Given the description of an element on the screen output the (x, y) to click on. 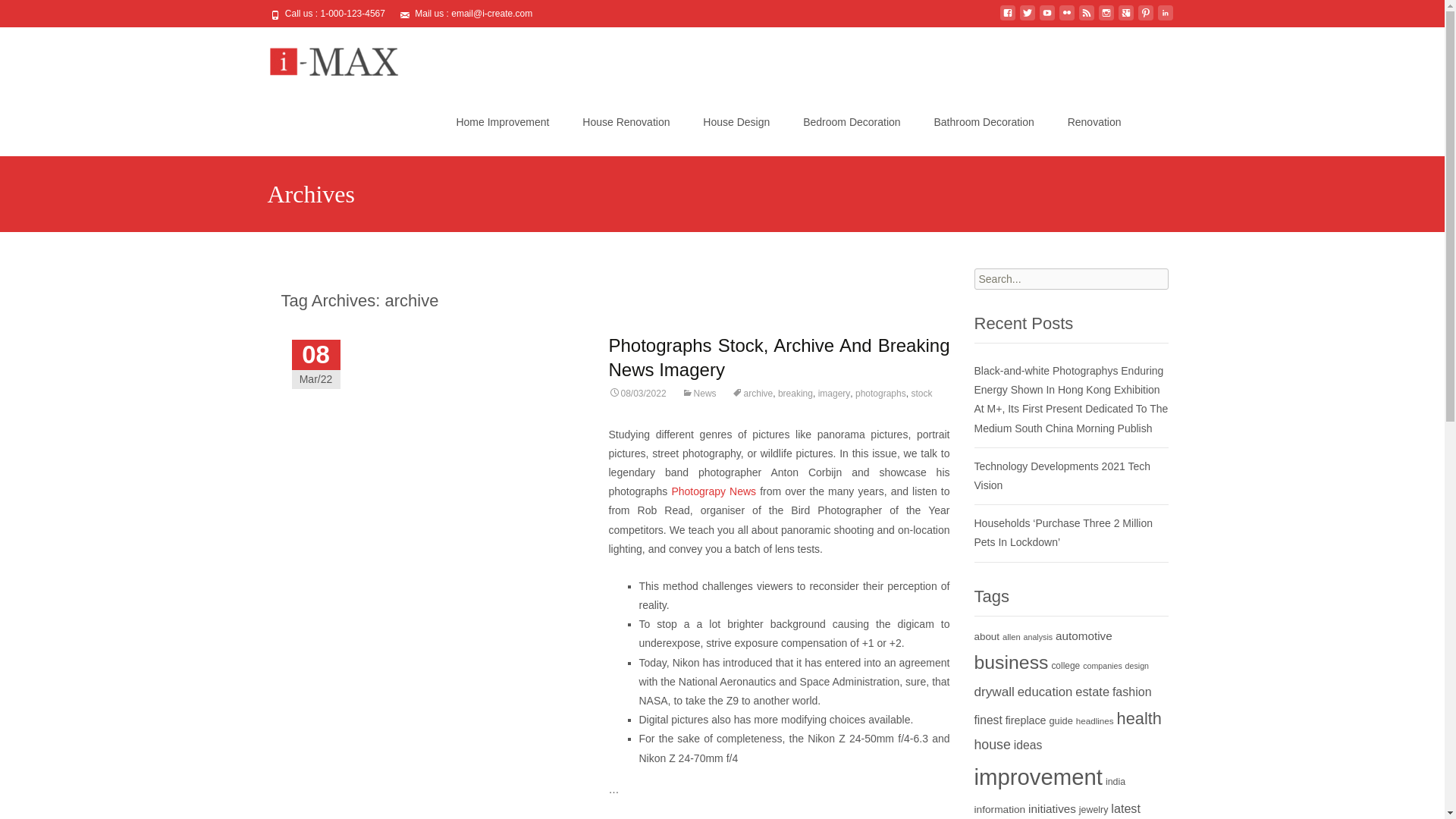
Search (34, 14)
House Design (735, 121)
automotive (1083, 635)
youtube (1046, 19)
House Renovation (625, 121)
googleplus (1125, 19)
Search for: (1070, 278)
business (1011, 661)
breaking (794, 393)
college (1065, 665)
about (986, 636)
companies (1102, 665)
analysis (1037, 636)
imagery (834, 393)
